Given the description of an element on the screen output the (x, y) to click on. 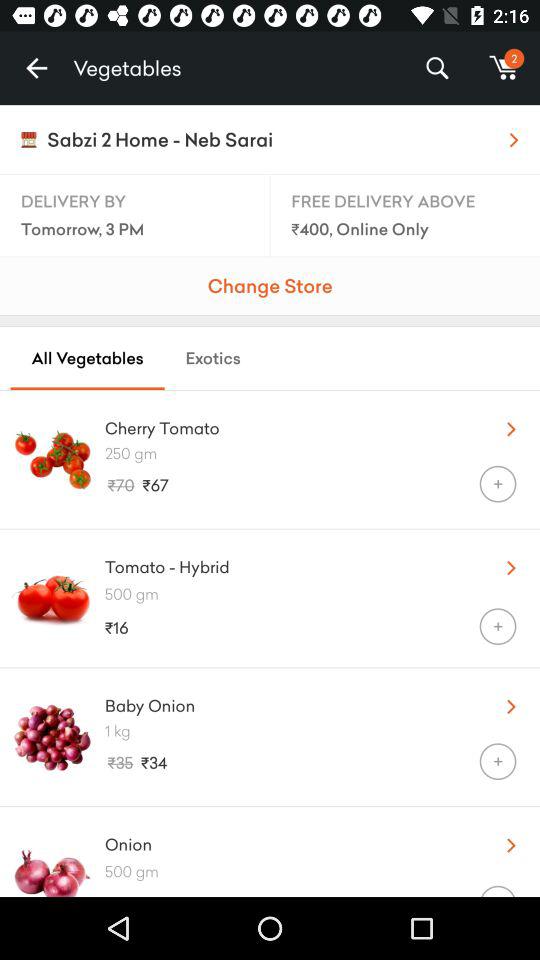
turn on item to the left of + icon (268, 627)
